Given the description of an element on the screen output the (x, y) to click on. 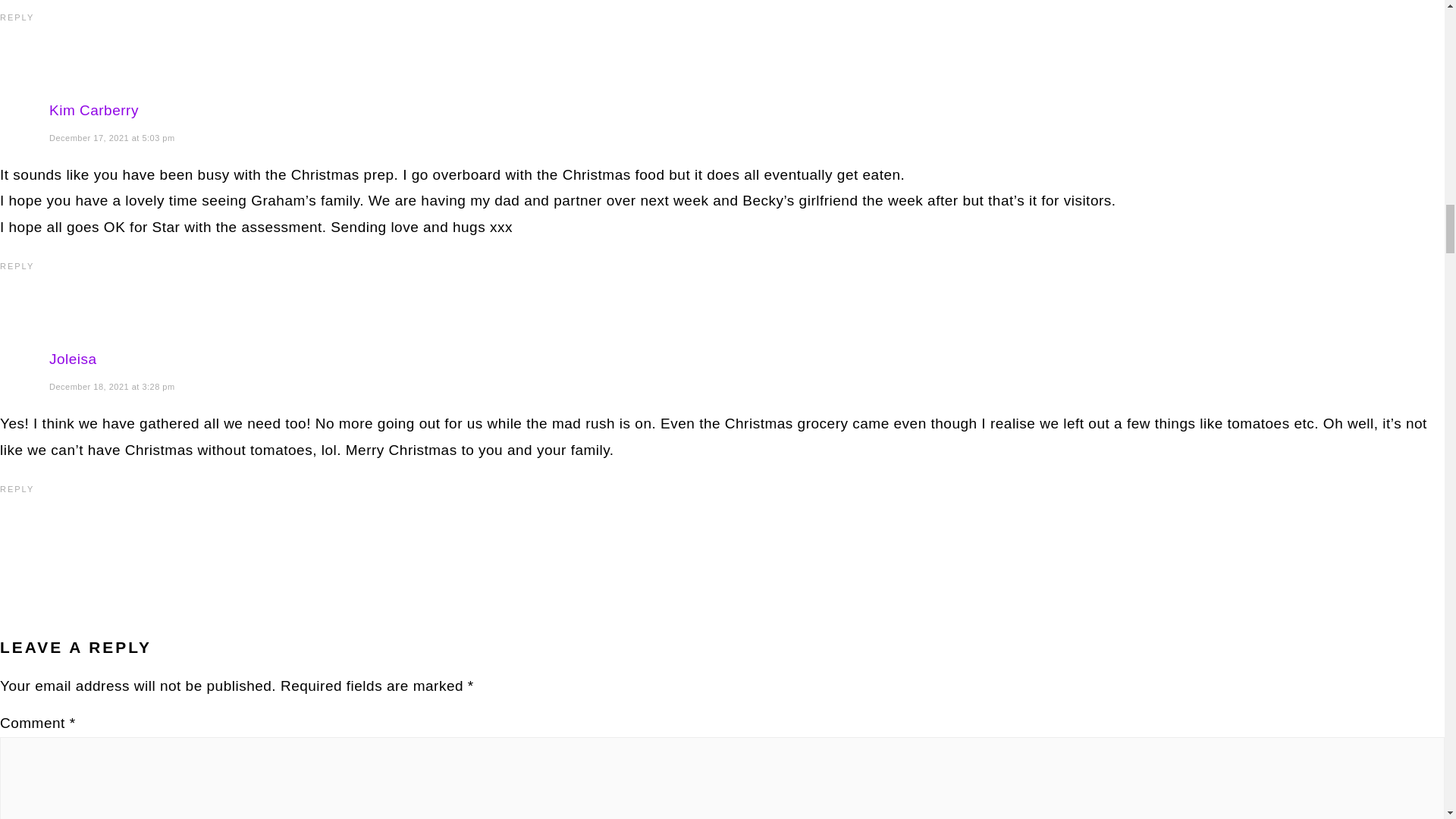
REPLY (16, 266)
December 18, 2021 at 3:28 pm (111, 386)
REPLY (16, 488)
REPLY (16, 17)
Kim Carberry (93, 109)
Joleisa (73, 358)
December 17, 2021 at 5:03 pm (111, 137)
